Given the description of an element on the screen output the (x, y) to click on. 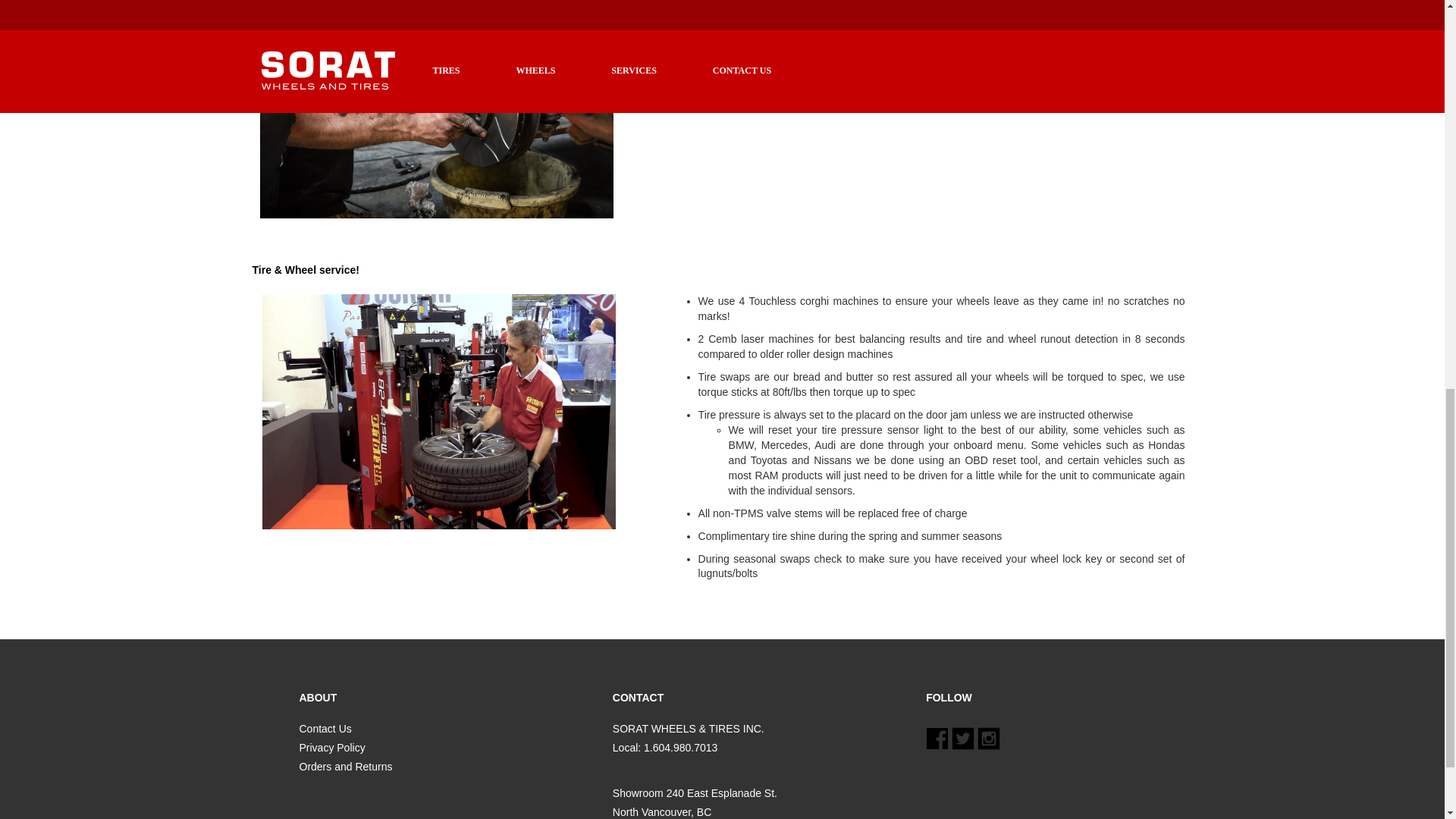
CONTACT (750, 697)
Contact Us (324, 728)
Privacy Policy (331, 747)
Orders and Returns (344, 766)
